Given the description of an element on the screen output the (x, y) to click on. 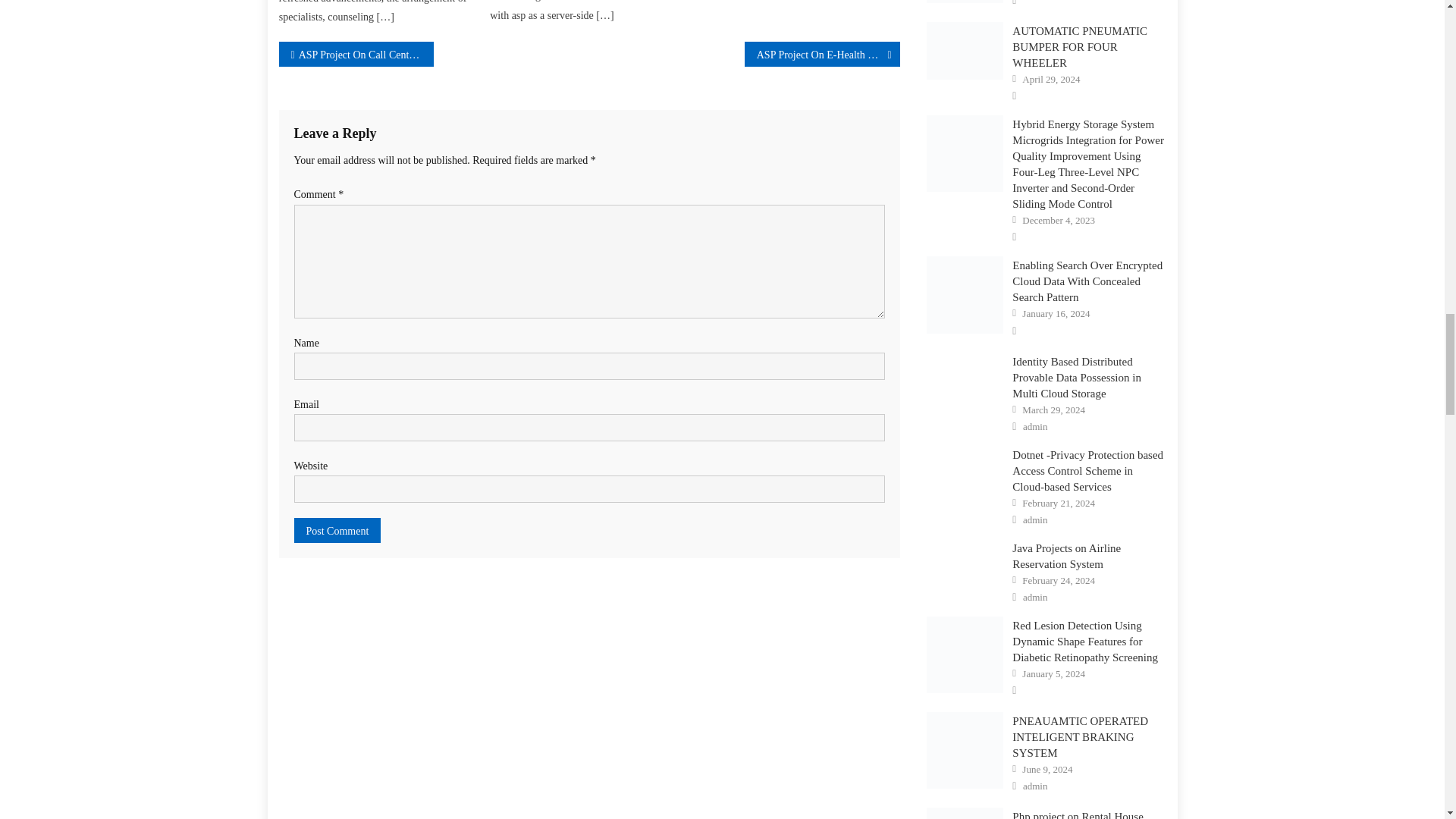
Post Comment (337, 529)
